Given the description of an element on the screen output the (x, y) to click on. 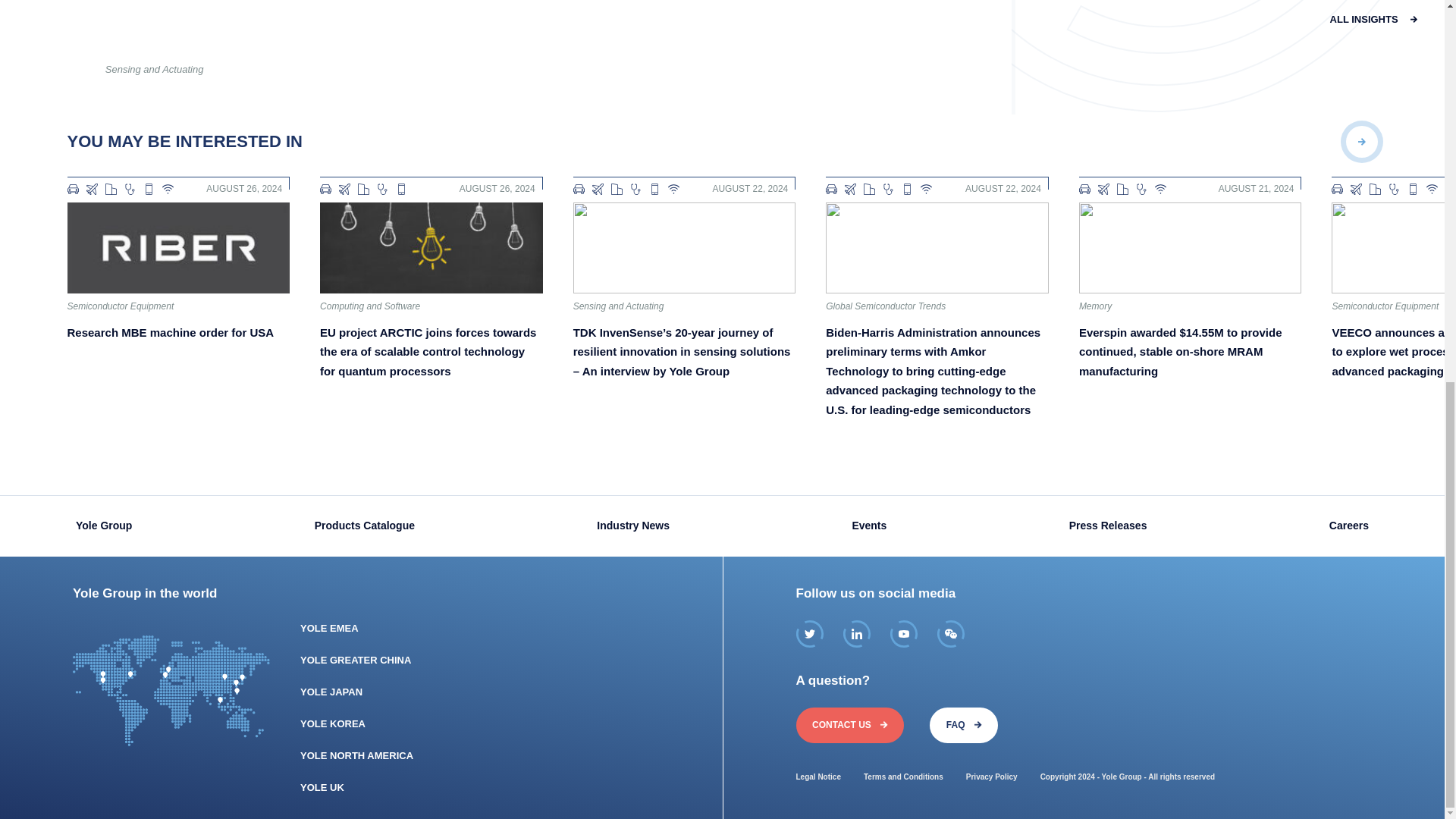
Follow us on linkedin (856, 633)
Follow us on wechat (950, 633)
Follow us on twitter (810, 633)
Follow us on youtube (903, 633)
